Given the description of an element on the screen output the (x, y) to click on. 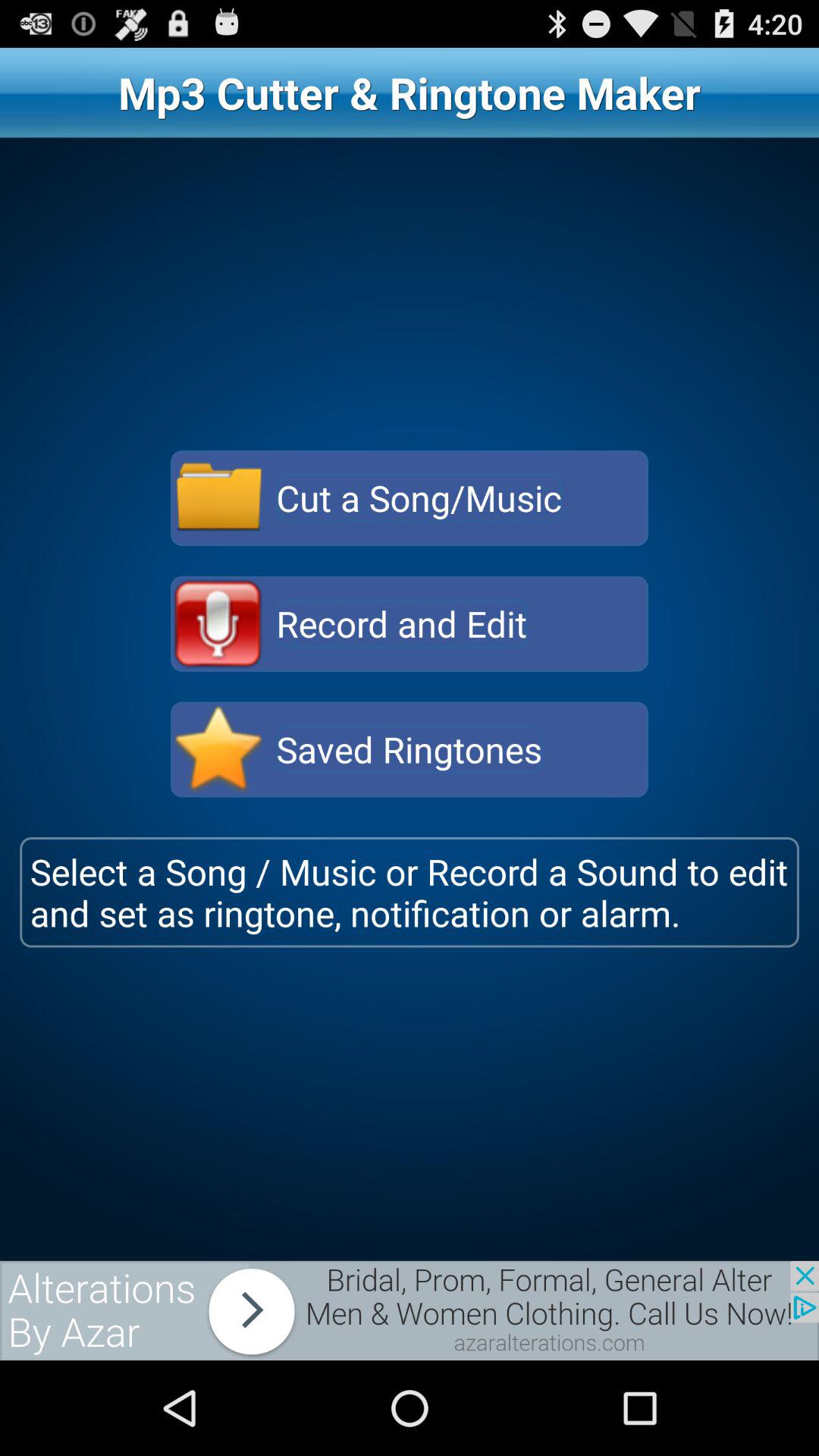
go to ringtones (218, 749)
